Given the description of an element on the screen output the (x, y) to click on. 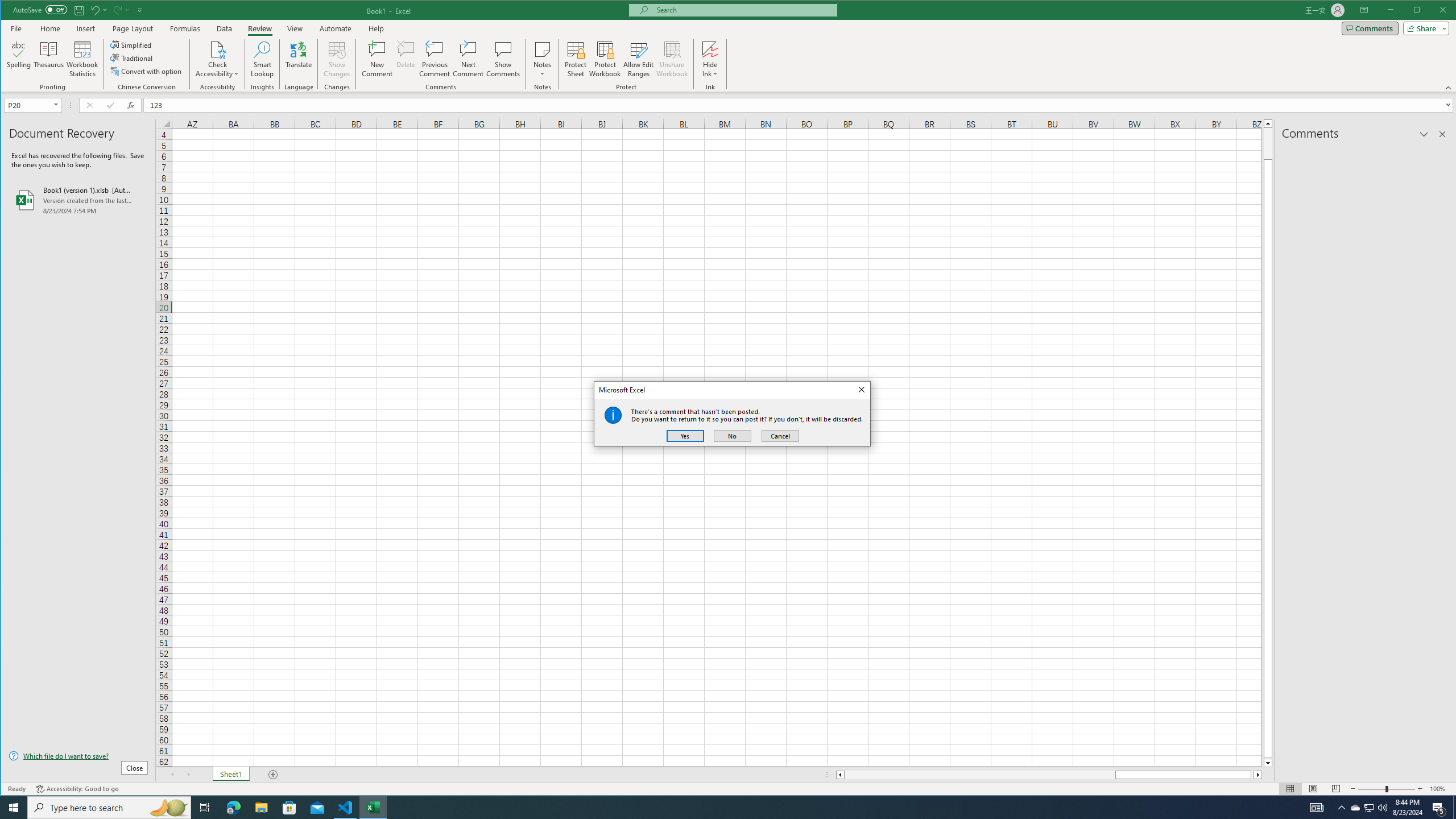
Translate (298, 59)
Delete (405, 59)
